Given the description of an element on the screen output the (x, y) to click on. 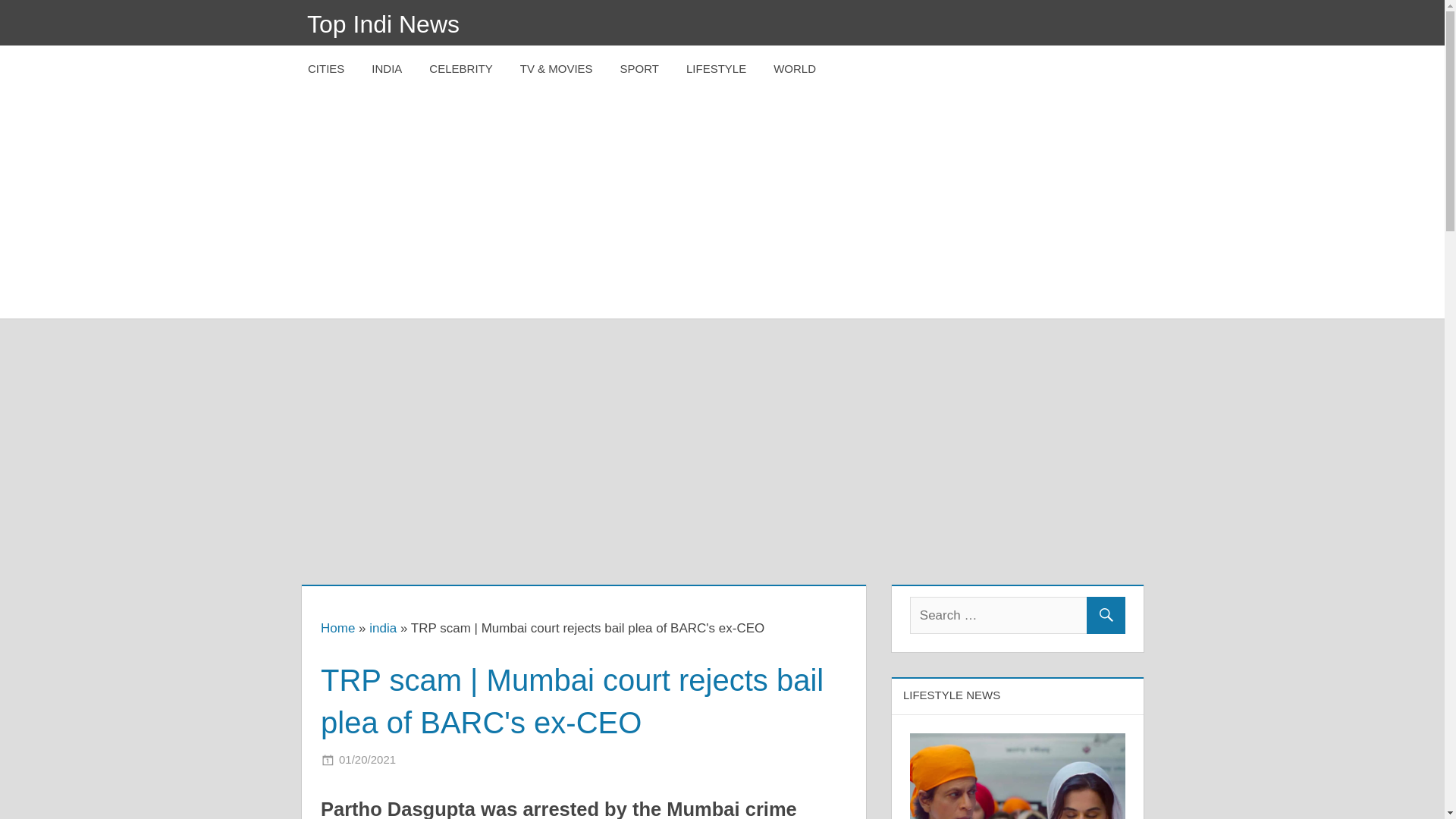
CELEBRITY (459, 68)
Top Indi News (383, 23)
Dunki Drop 5: SRK to romance Taapsee in a brand new song (1017, 776)
SPORT (639, 68)
13:00 (367, 758)
Home (337, 627)
Search for: (1017, 615)
INDIA (386, 68)
india (382, 627)
WORLD (794, 68)
